Given the description of an element on the screen output the (x, y) to click on. 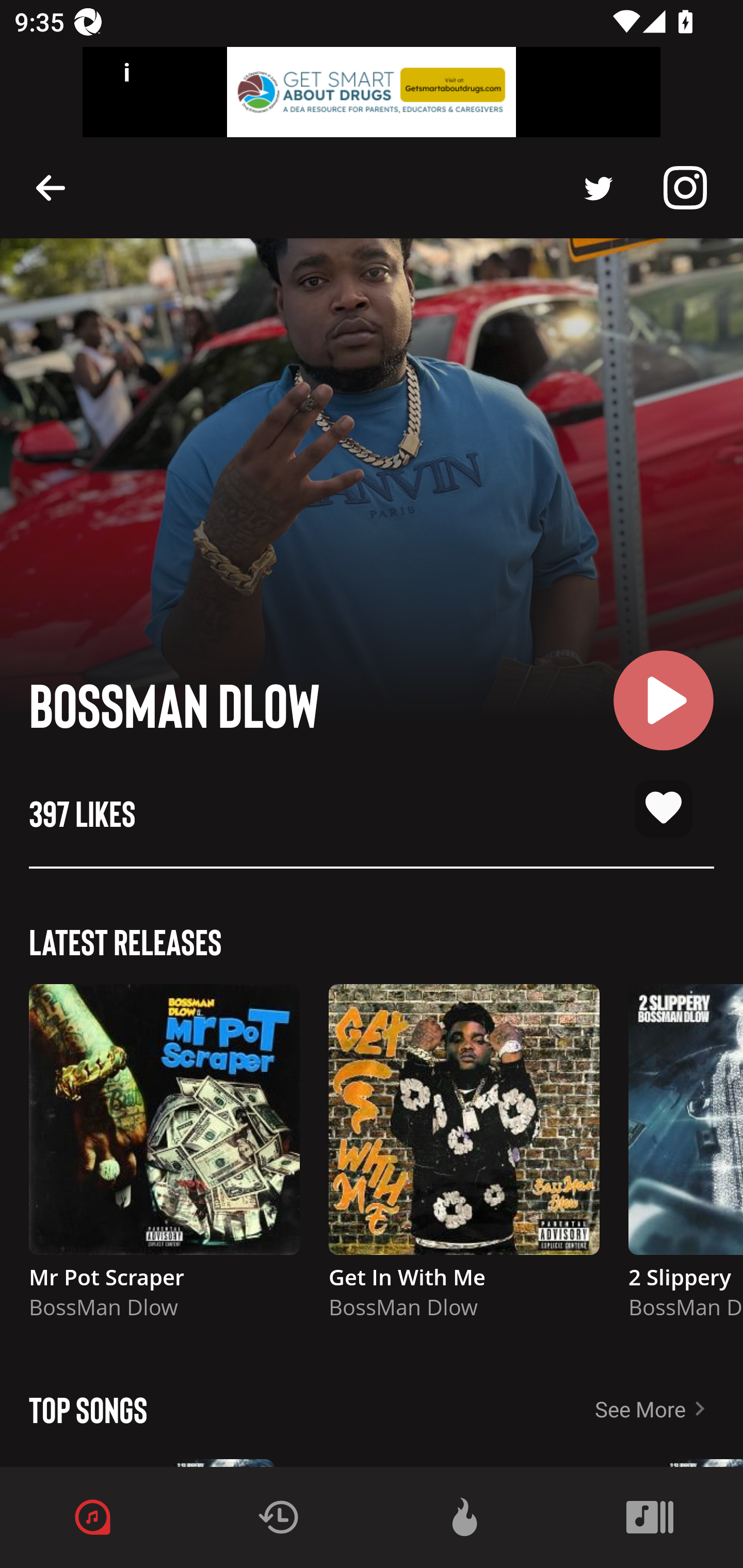
Description (50, 187)
Description (598, 188)
Description (684, 188)
Description Mr Pot Scraper BossMan Dlow (164, 1159)
Description Get In With Me BossMan Dlow (463, 1159)
See More (668, 1408)
